Given the description of an element on the screen output the (x, y) to click on. 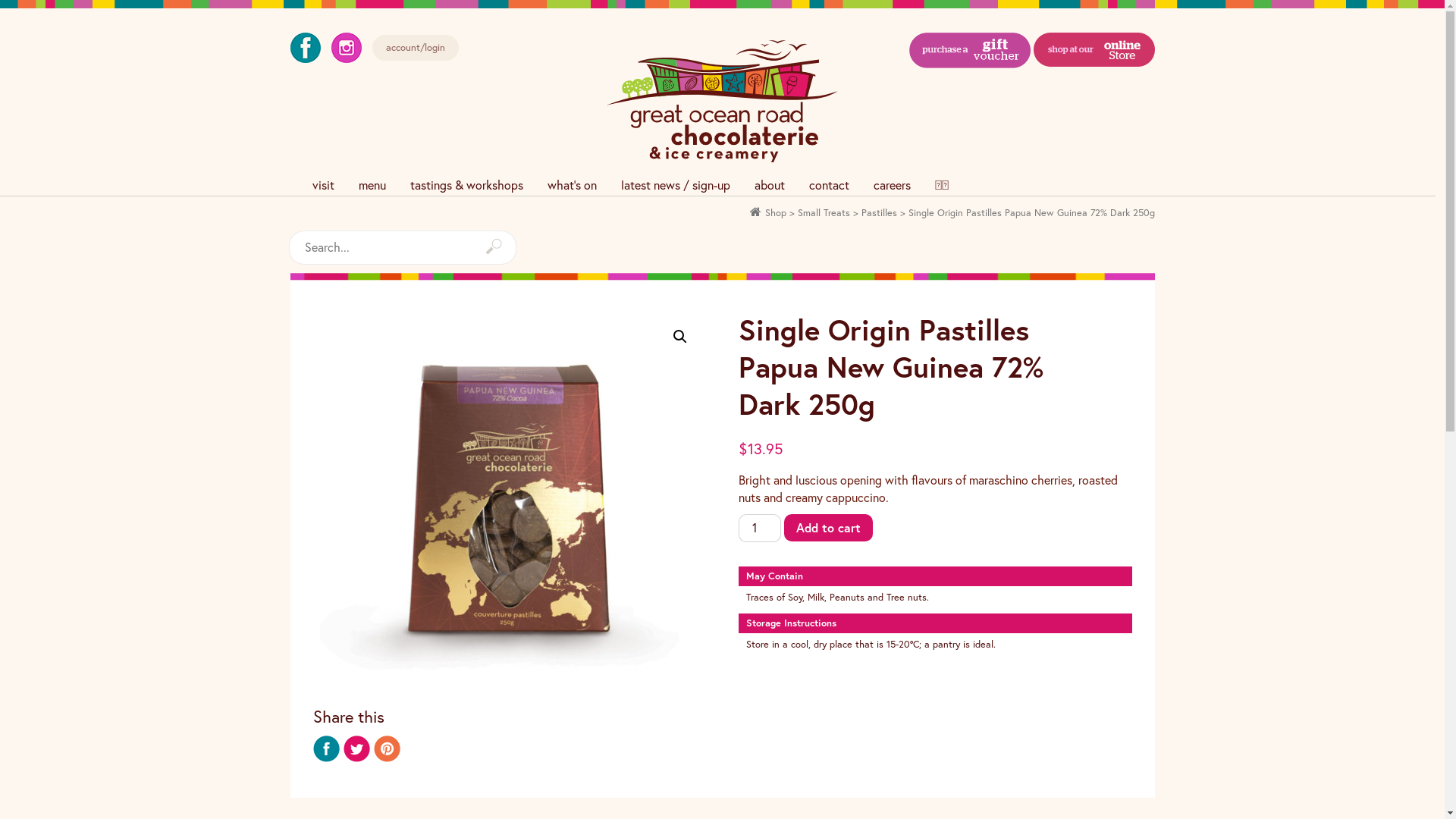
tastings & workshops Element type: text (465, 184)
Search for: Element type: hover (401, 247)
careers Element type: text (891, 184)
menu Element type: text (371, 184)
about Element type: text (768, 184)
Pastilles_72%PapuaNewGuinea250g_GORCI_Web Element type: hover (509, 500)
latest news / sign-up Element type: text (674, 184)
contact Element type: text (828, 184)
Add to cart Element type: text (828, 527)
purchase a gift voucher Element type: hover (969, 102)
account/login Element type: text (414, 47)
Shop Element type: text (774, 212)
Pastilles Element type: text (879, 212)
visit Element type: text (323, 184)
shop at our online store Element type: hover (1093, 102)
Small Treats Element type: text (823, 212)
